Given the description of an element on the screen output the (x, y) to click on. 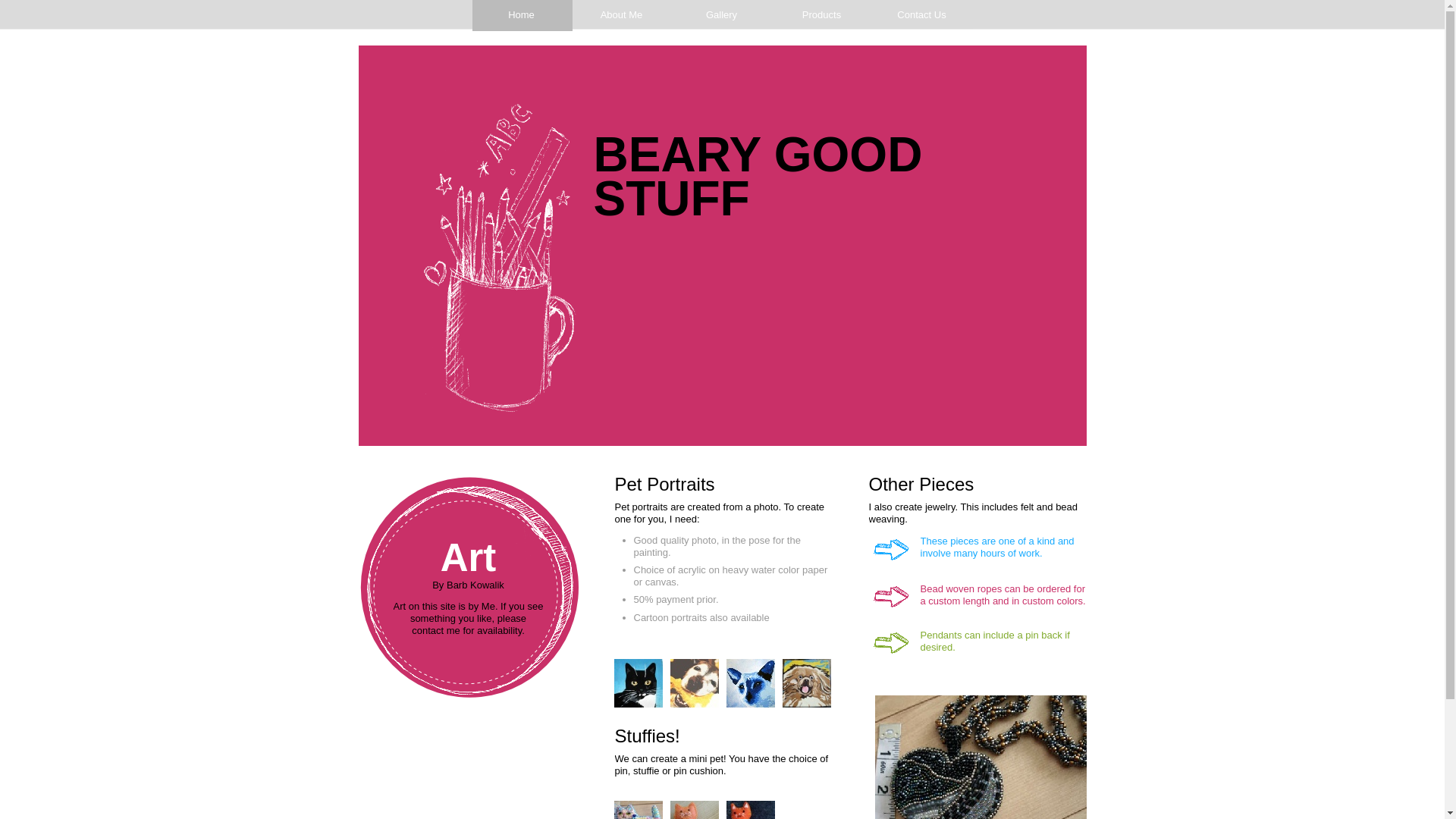
Gallery Element type: text (721, 15)
Contact Us Element type: text (922, 15)
About Me Element type: text (621, 15)
Products Element type: text (821, 15)
Sed commodo Element type: text (758, 770)
Home Element type: text (521, 15)
